Given the description of an element on the screen output the (x, y) to click on. 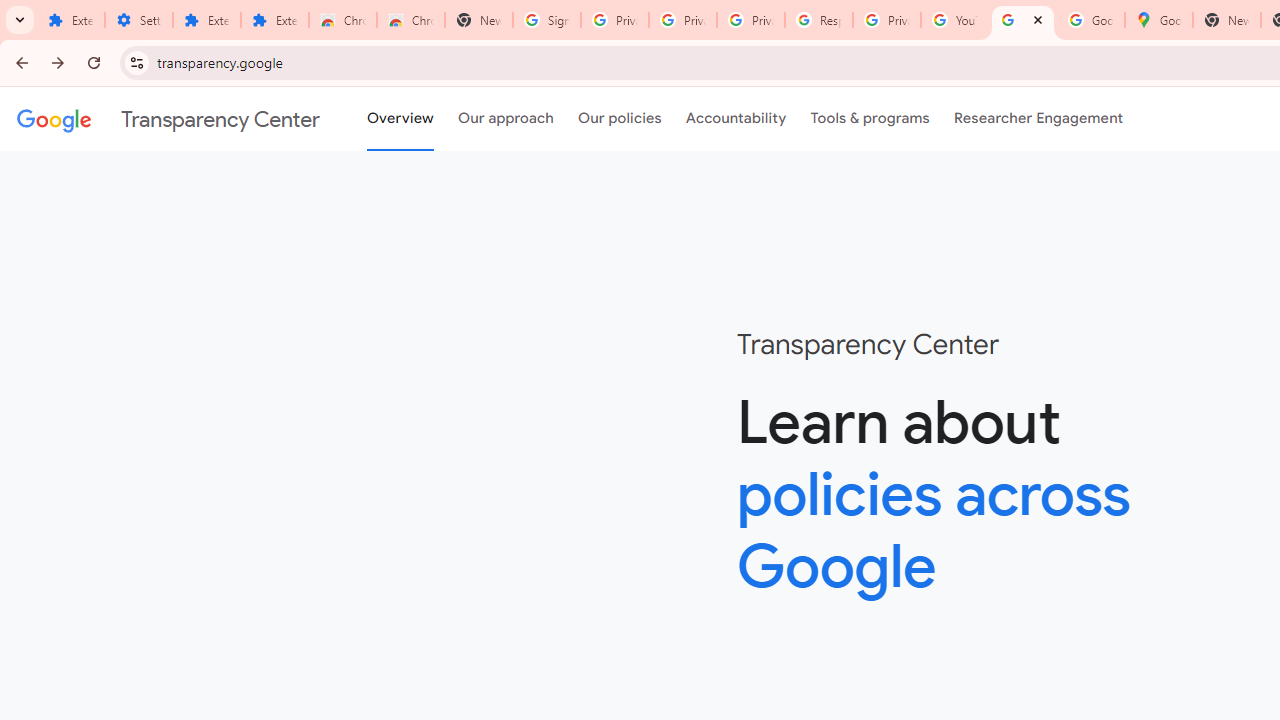
Our policies (619, 119)
New Tab (479, 20)
Our approach (506, 119)
YouTube (954, 20)
Extensions (274, 20)
Transparency Center (167, 119)
Extensions (70, 20)
